Given the description of an element on the screen output the (x, y) to click on. 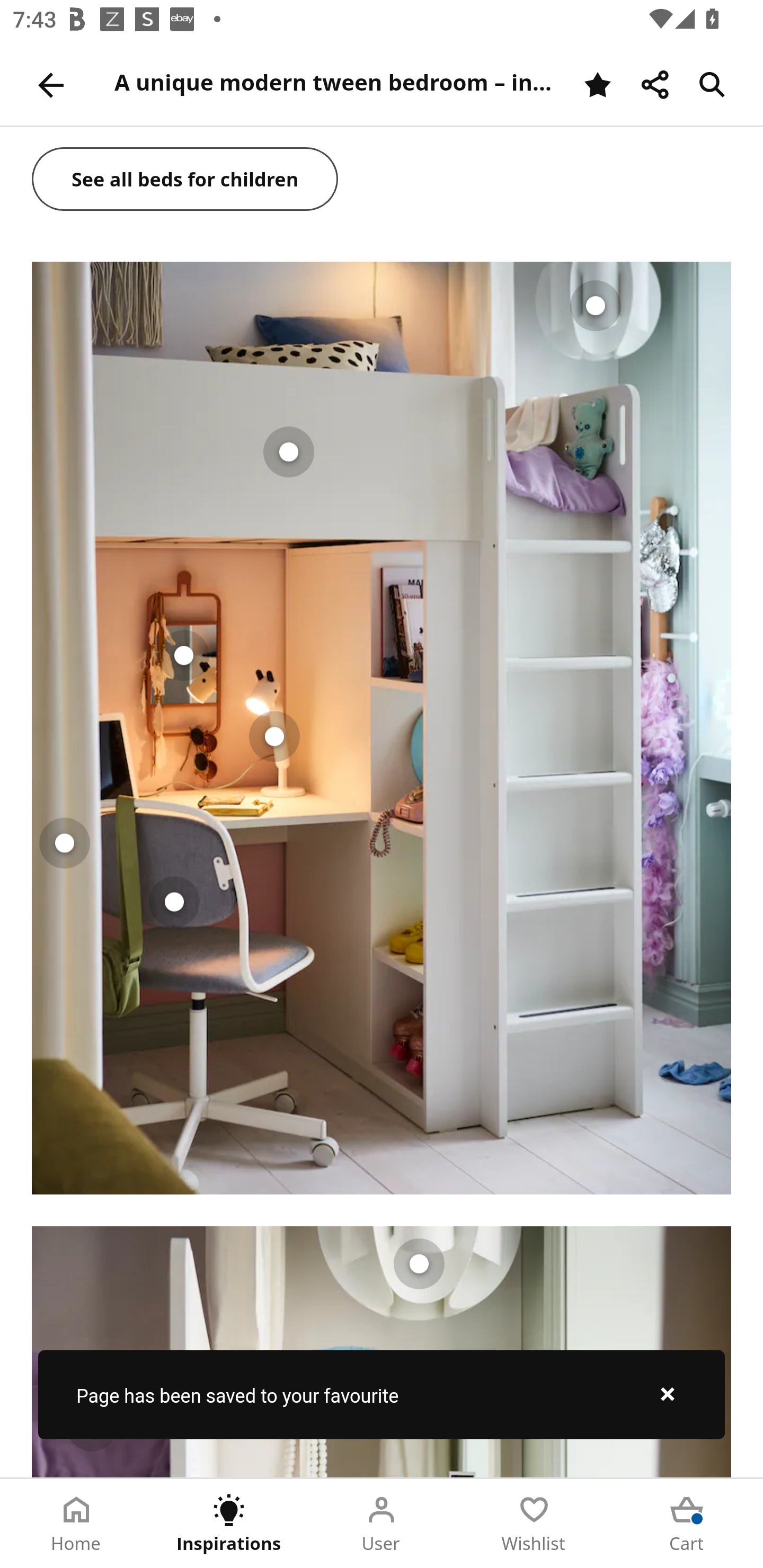
See all beds for children (185, 180)
Page has been saved to your favourite (381, 1394)
Home
Tab 1 of 5 (76, 1522)
Inspirations
Tab 2 of 5 (228, 1522)
User
Tab 3 of 5 (381, 1522)
Wishlist
Tab 4 of 5 (533, 1522)
Cart
Tab 5 of 5 (686, 1522)
